Given the description of an element on the screen output the (x, y) to click on. 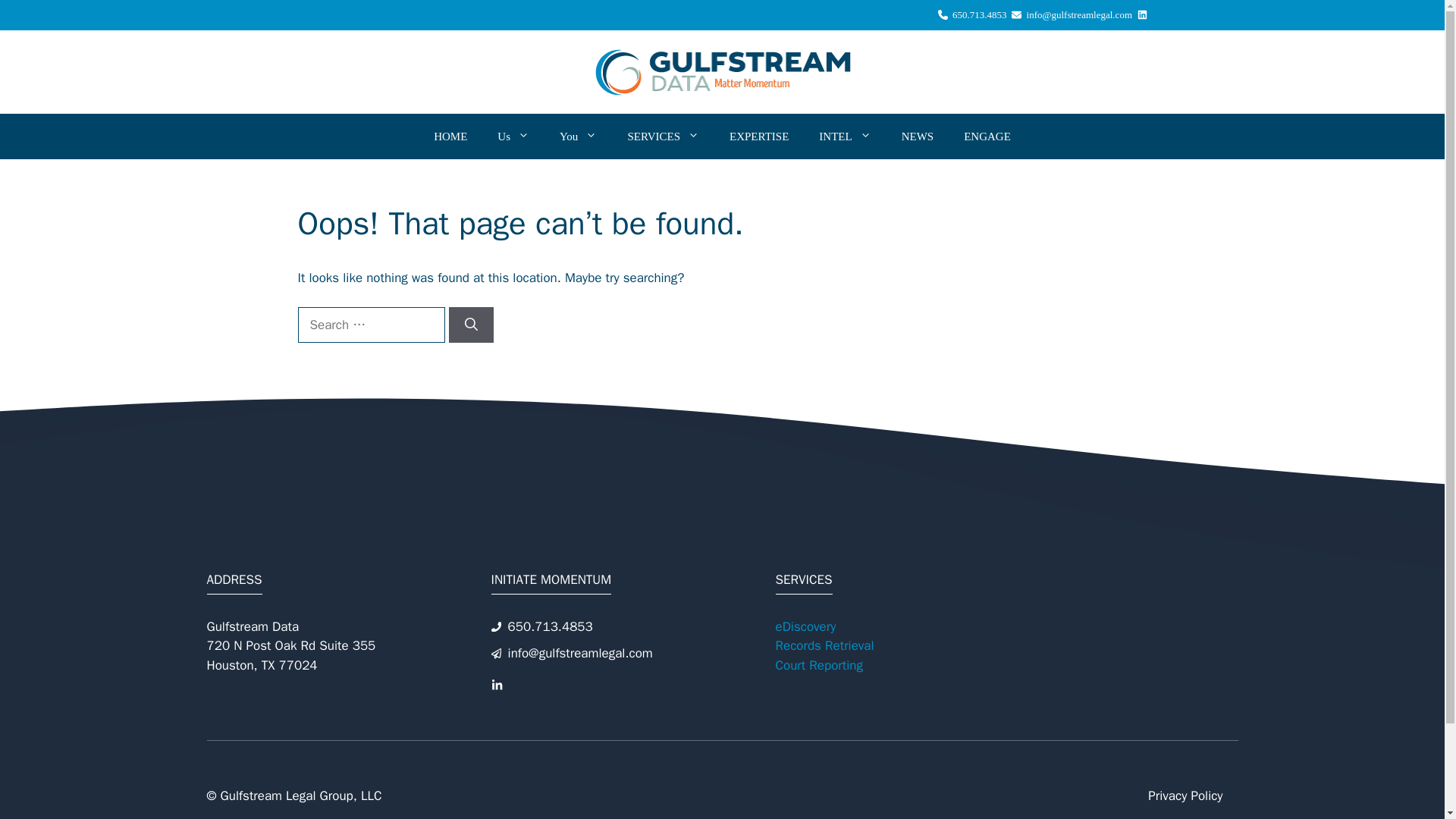
EXPERTISE (758, 135)
Court Reporting (817, 665)
Us (512, 135)
ENGAGE (987, 135)
Records Retrieval (823, 645)
SERVICES (662, 135)
You (577, 135)
Search for: (370, 325)
eDiscovery (804, 626)
HOME (450, 135)
650.713.4853 (972, 14)
INTEL (844, 135)
Privacy Policy (1185, 795)
NEWS (917, 135)
